Given the description of an element on the screen output the (x, y) to click on. 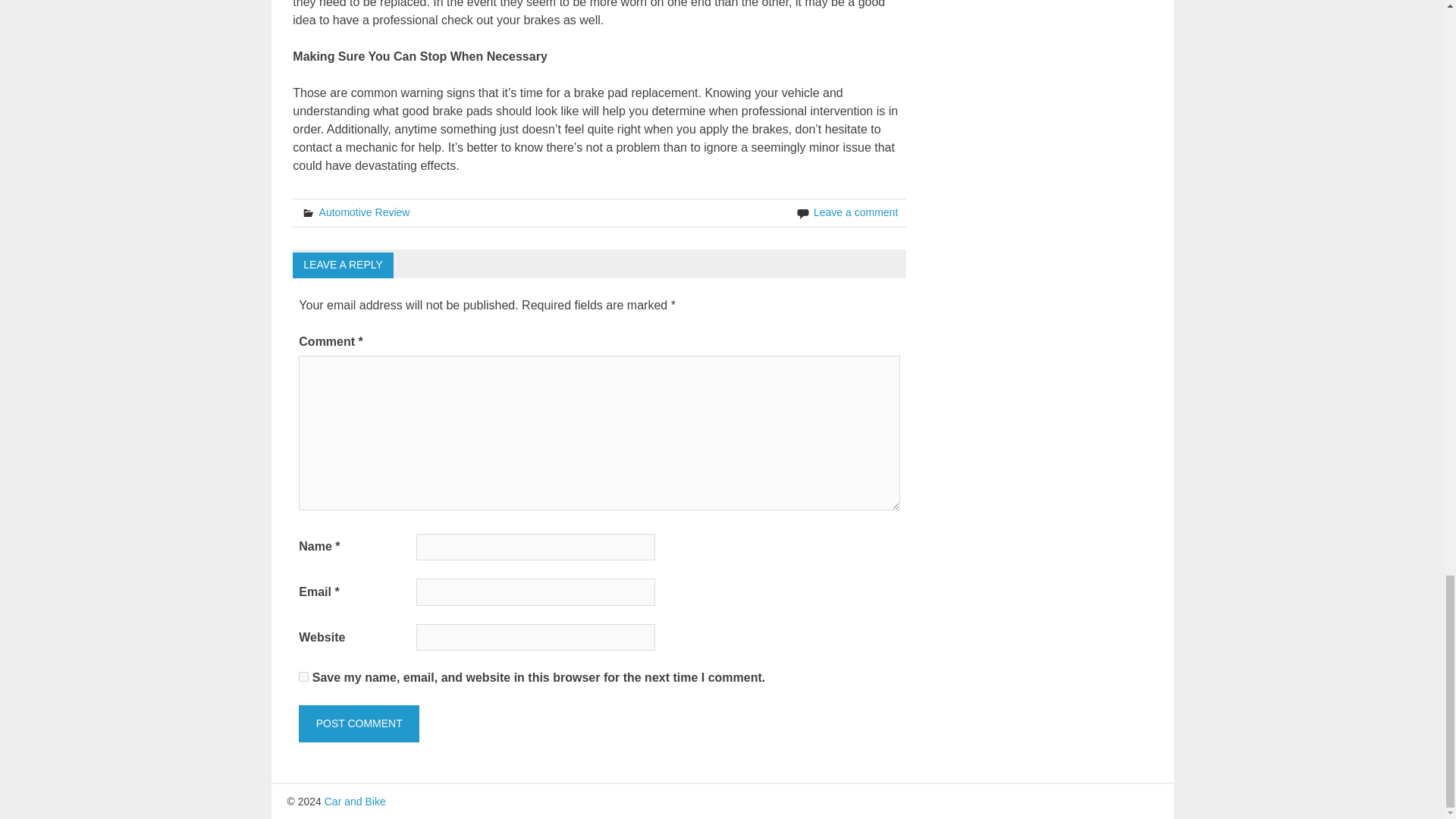
Car and Bike (354, 801)
Post Comment (358, 723)
Automotive Review (364, 212)
Post Comment (358, 723)
yes (303, 676)
Leave a comment (855, 212)
